Given the description of an element on the screen output the (x, y) to click on. 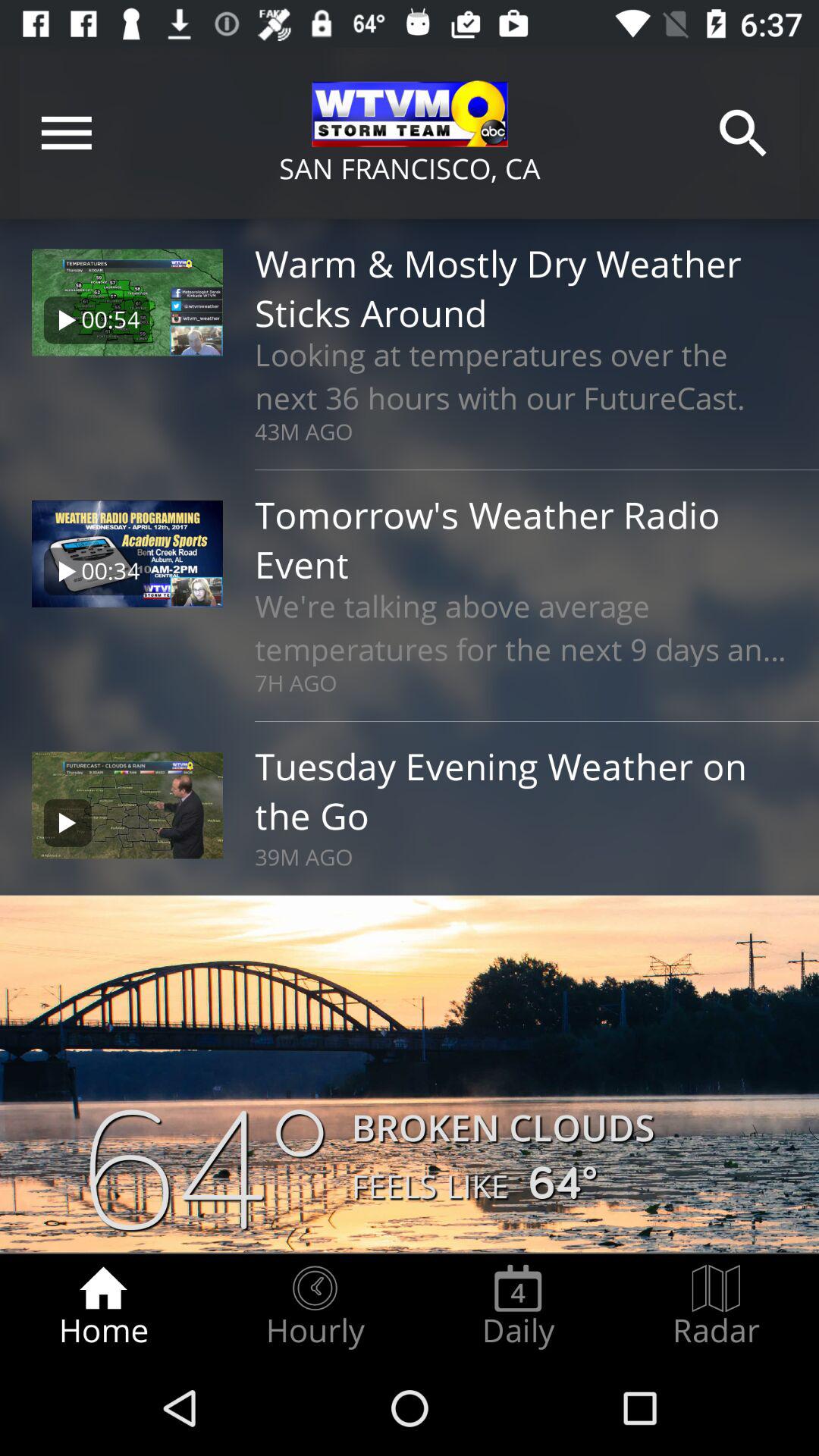
open radar radio button (716, 1307)
